Given the description of an element on the screen output the (x, y) to click on. 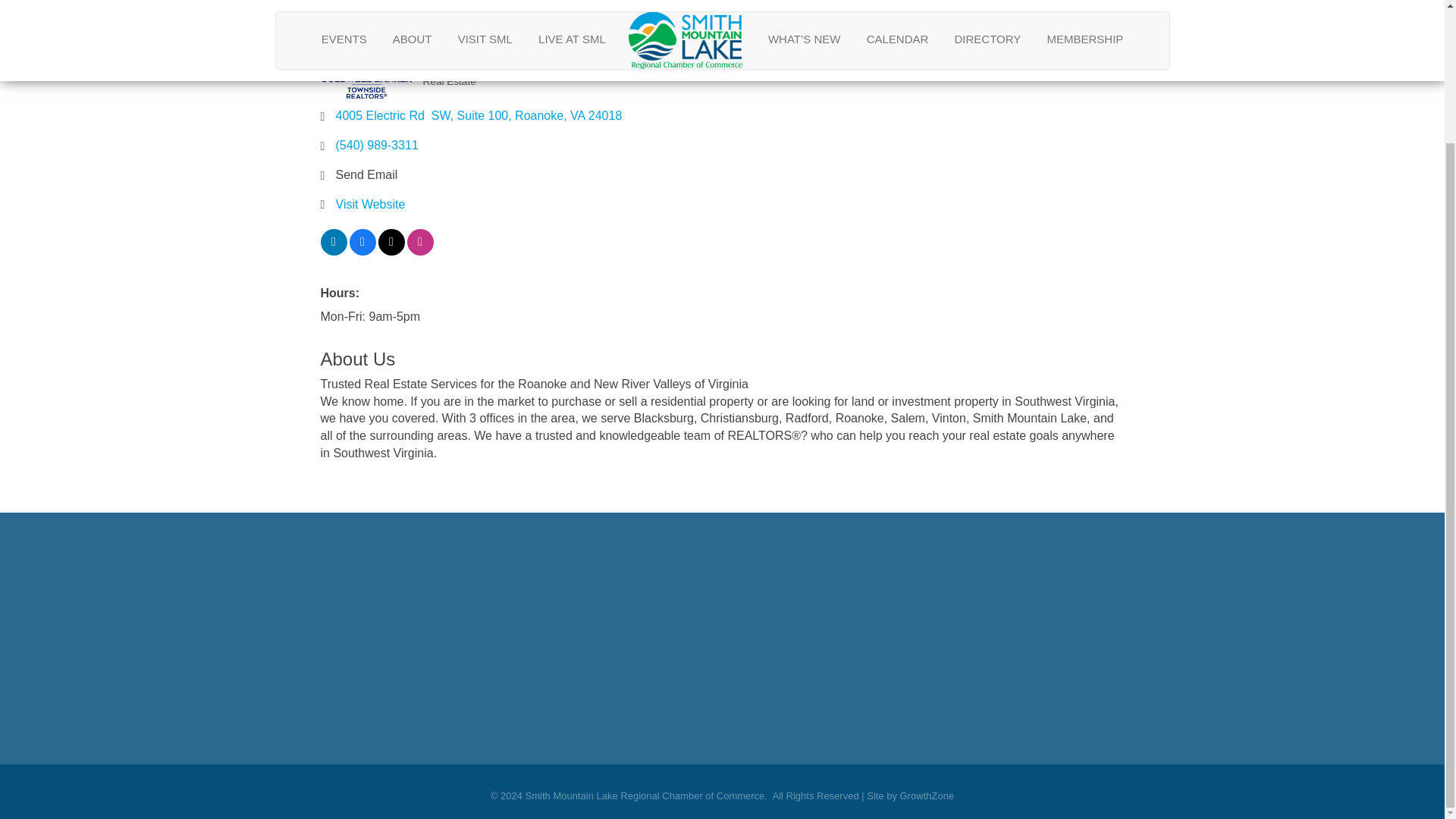
View on Instagram (419, 250)
View on Twitter (390, 250)
Coldwell Banker Townside, REALTORS (365, 69)
View on Facebook (362, 250)
View on LinkedIn (333, 250)
